Given the description of an element on the screen output the (x, y) to click on. 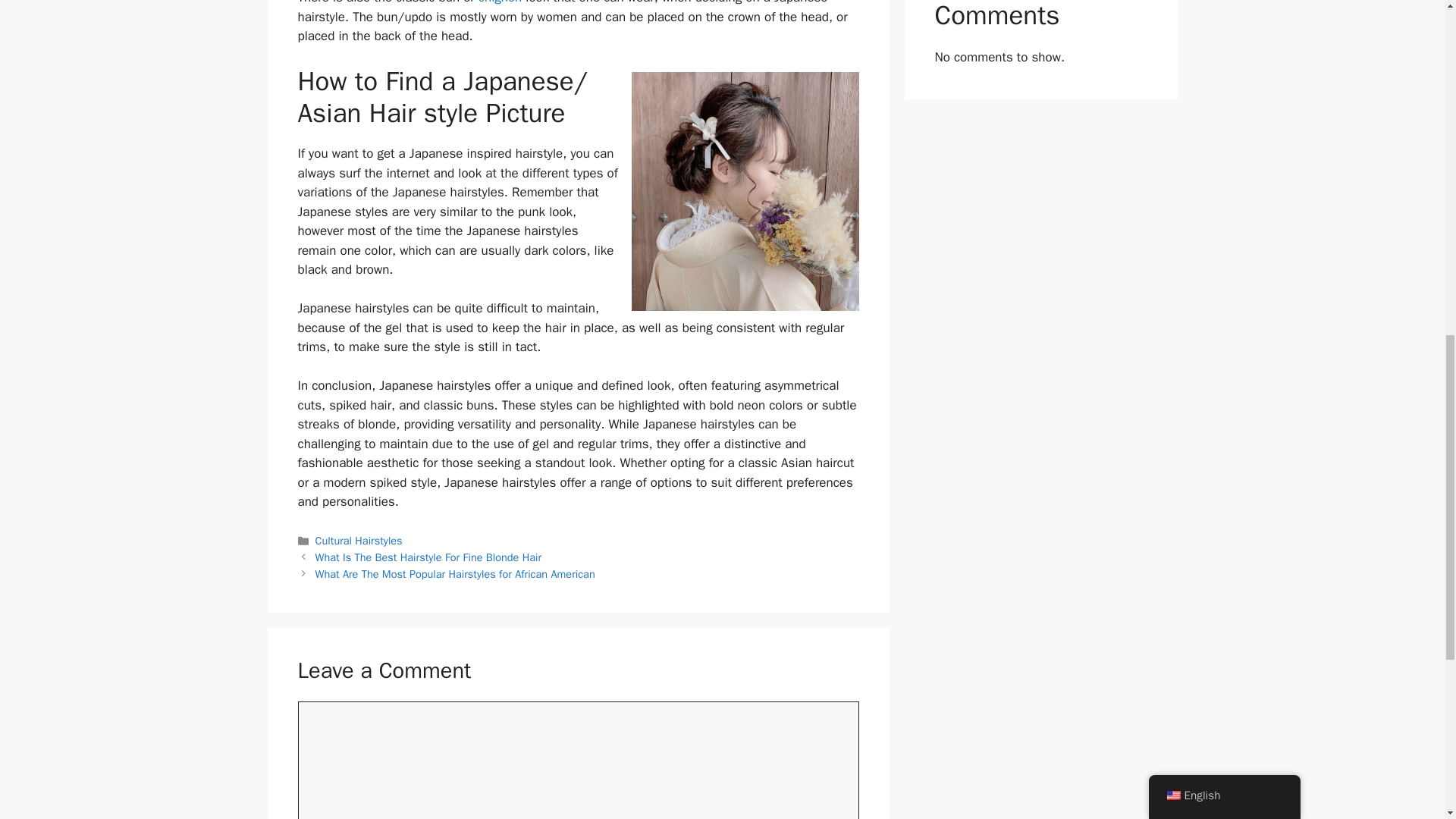
What Are The Most Popular Hairstyles for African American (455, 573)
chignon (500, 2)
Cultural Hairstyles (359, 540)
What Is A Chignon Hairstyle (500, 2)
What Is The Best Hairstyle For Fine Blonde Hair (428, 557)
